Given the description of an element on the screen output the (x, y) to click on. 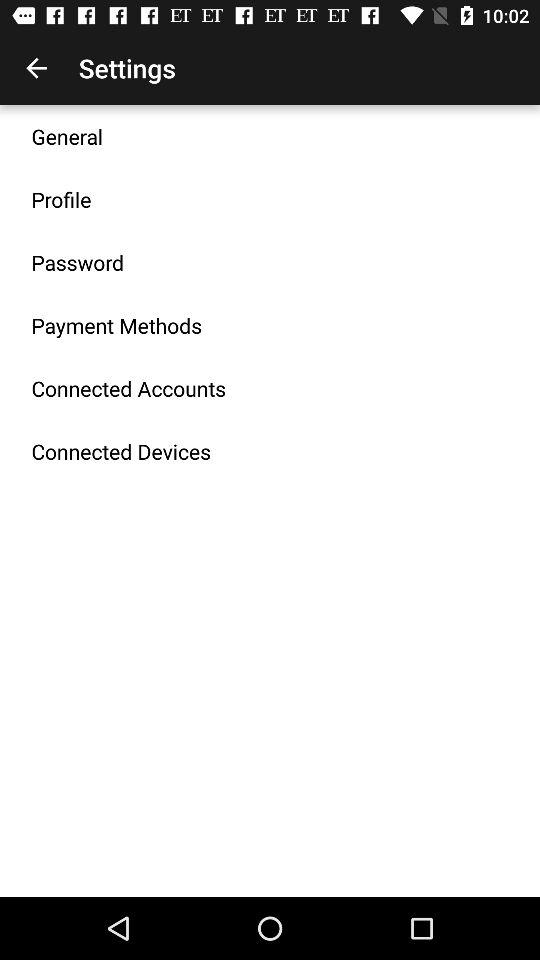
click the icon below the password icon (116, 325)
